Given the description of an element on the screen output the (x, y) to click on. 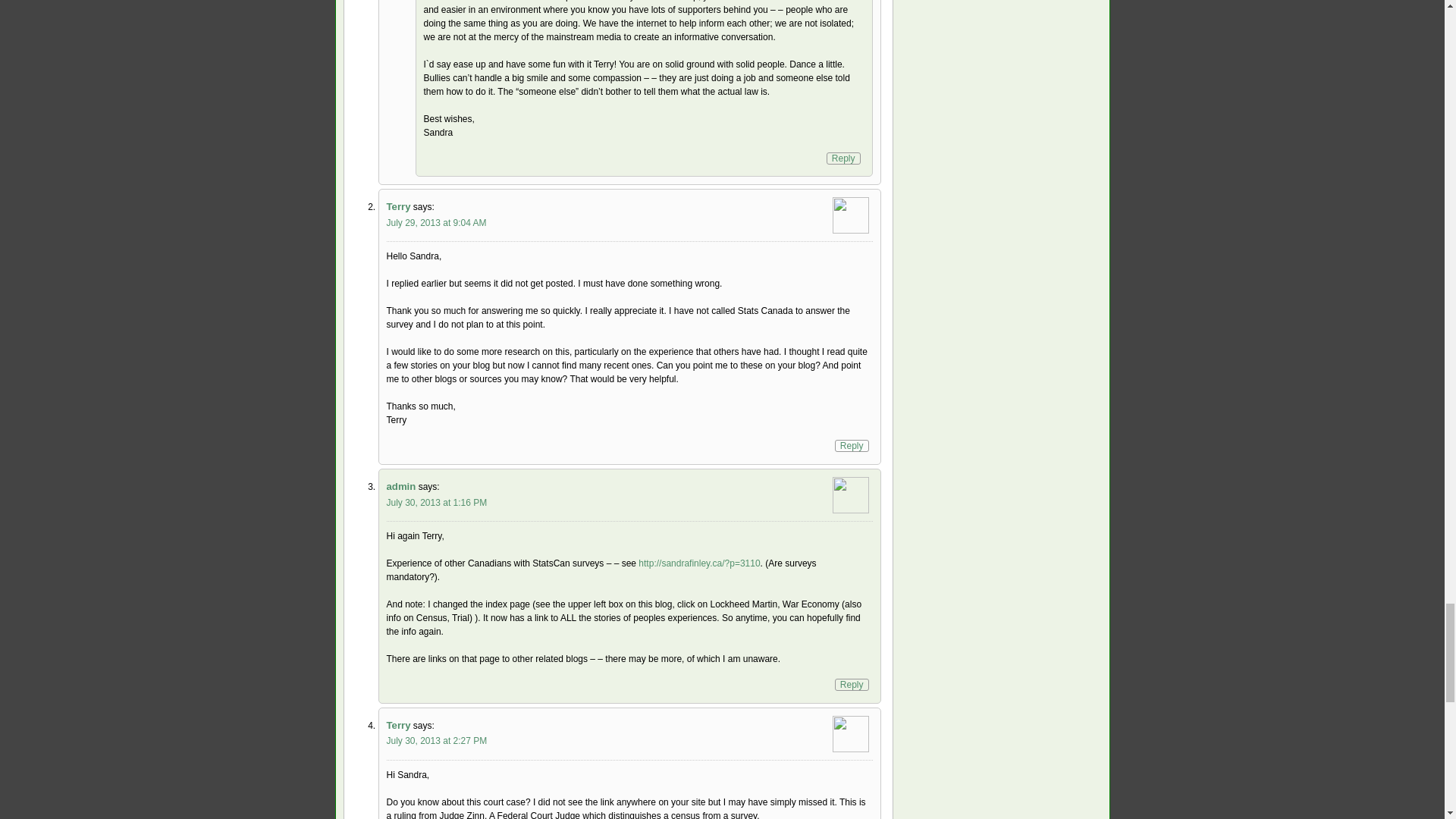
July 30, 2013 at 1:16 PM (437, 502)
July 30, 2013 at 2:27 PM (437, 740)
July 29, 2013 at 9:04 AM (436, 222)
Reply (851, 684)
Reply (843, 158)
Reply (851, 445)
